Given the description of an element on the screen output the (x, y) to click on. 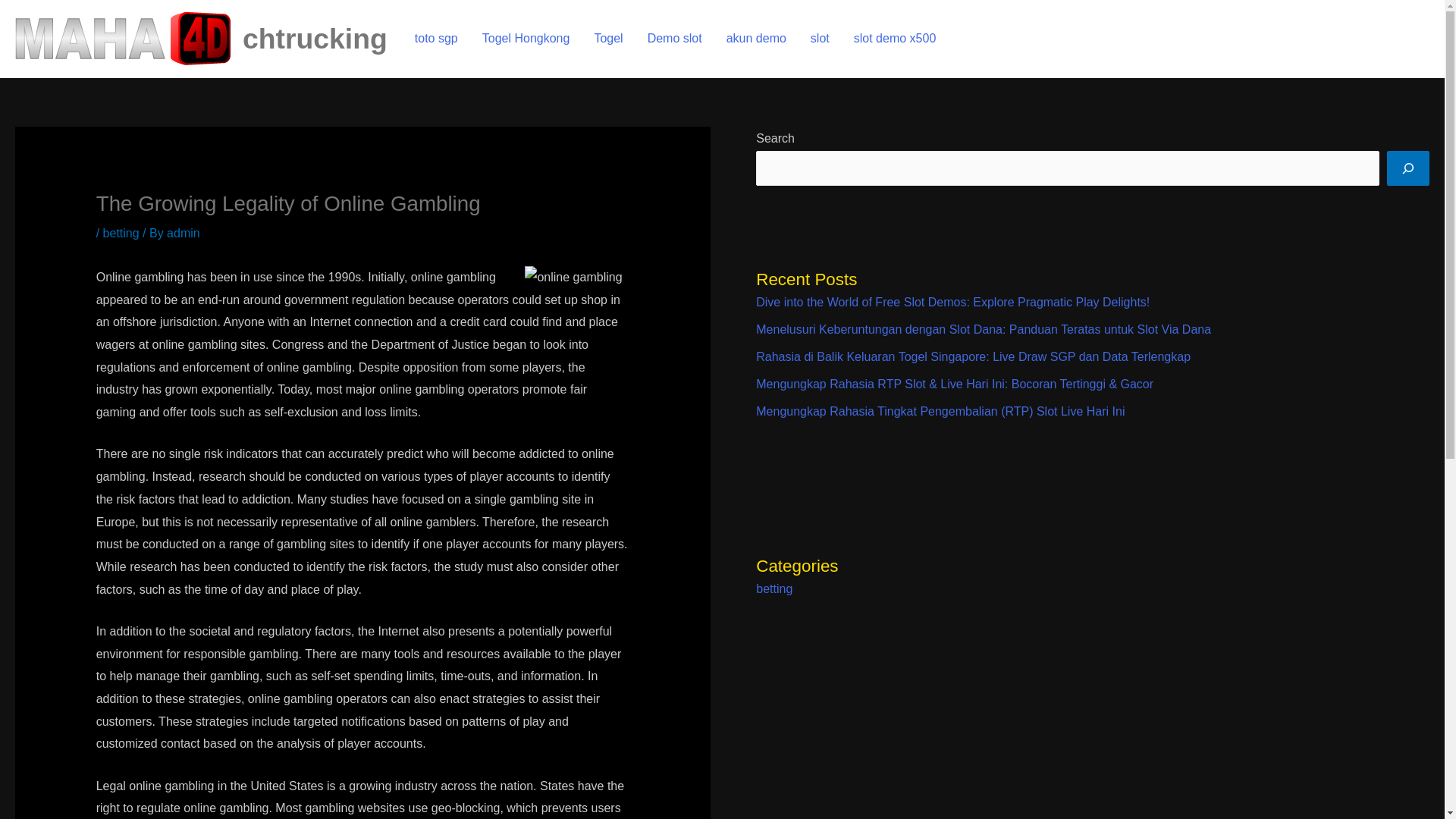
admin (183, 232)
betting (121, 232)
Togel (607, 38)
betting (773, 588)
slot demo x500 (895, 38)
chtrucking (315, 38)
Demo slot (674, 38)
Togel Hongkong (526, 38)
slot (819, 38)
toto sgp (436, 38)
akun demo (755, 38)
View all posts by admin (183, 232)
